Given the description of an element on the screen output the (x, y) to click on. 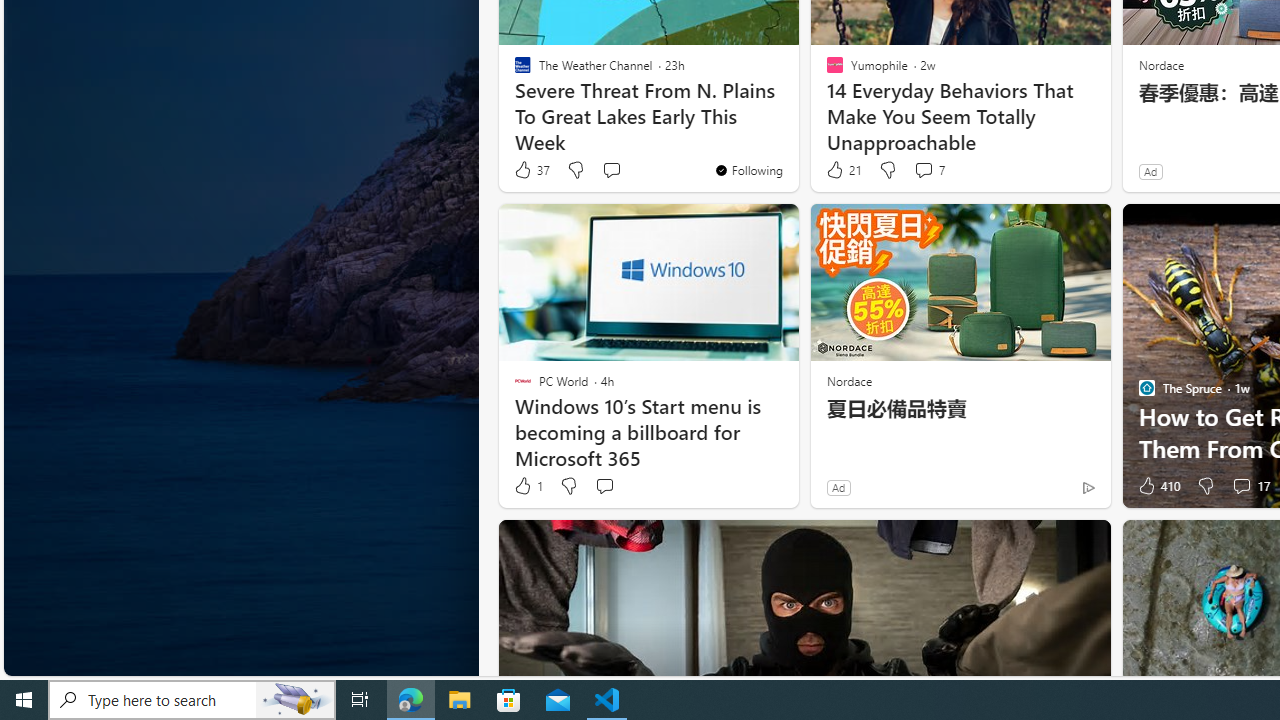
21 Like (843, 170)
You're following The Weather Channel (747, 169)
